Given the description of an element on the screen output the (x, y) to click on. 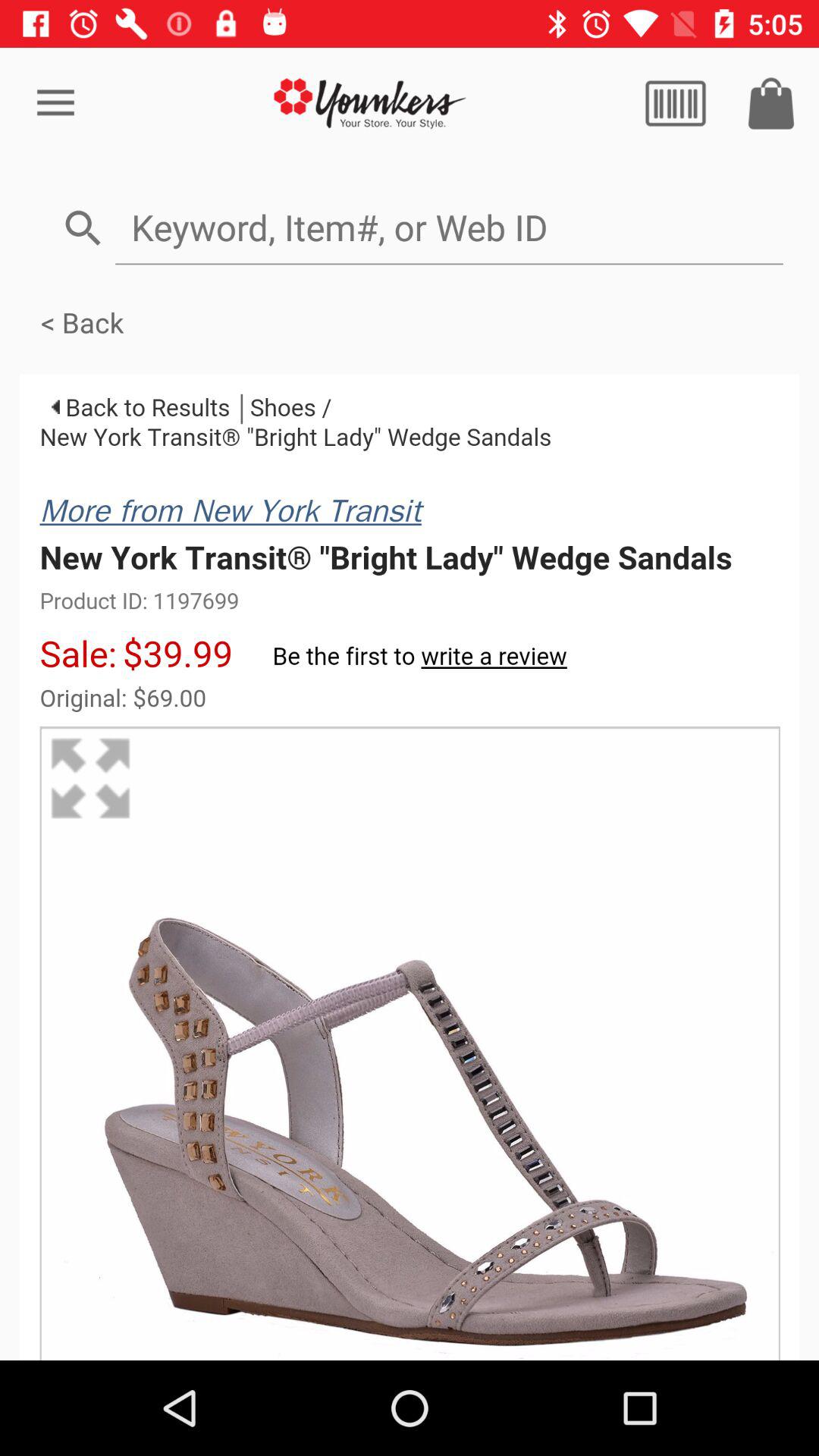
search item (449, 227)
